Given the description of an element on the screen output the (x, y) to click on. 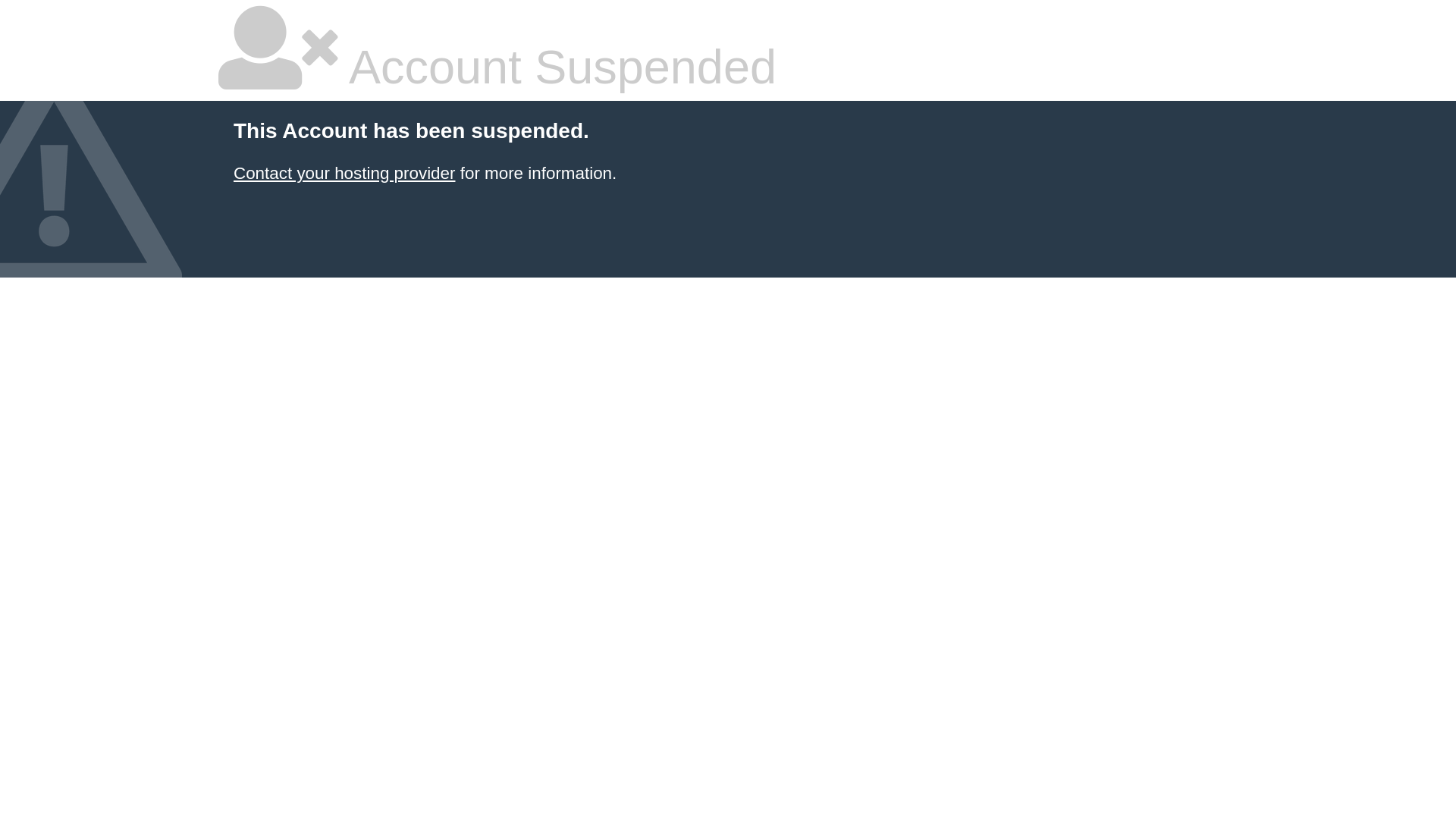
Contact your hosting provider Element type: text (344, 172)
